Given the description of an element on the screen output the (x, y) to click on. 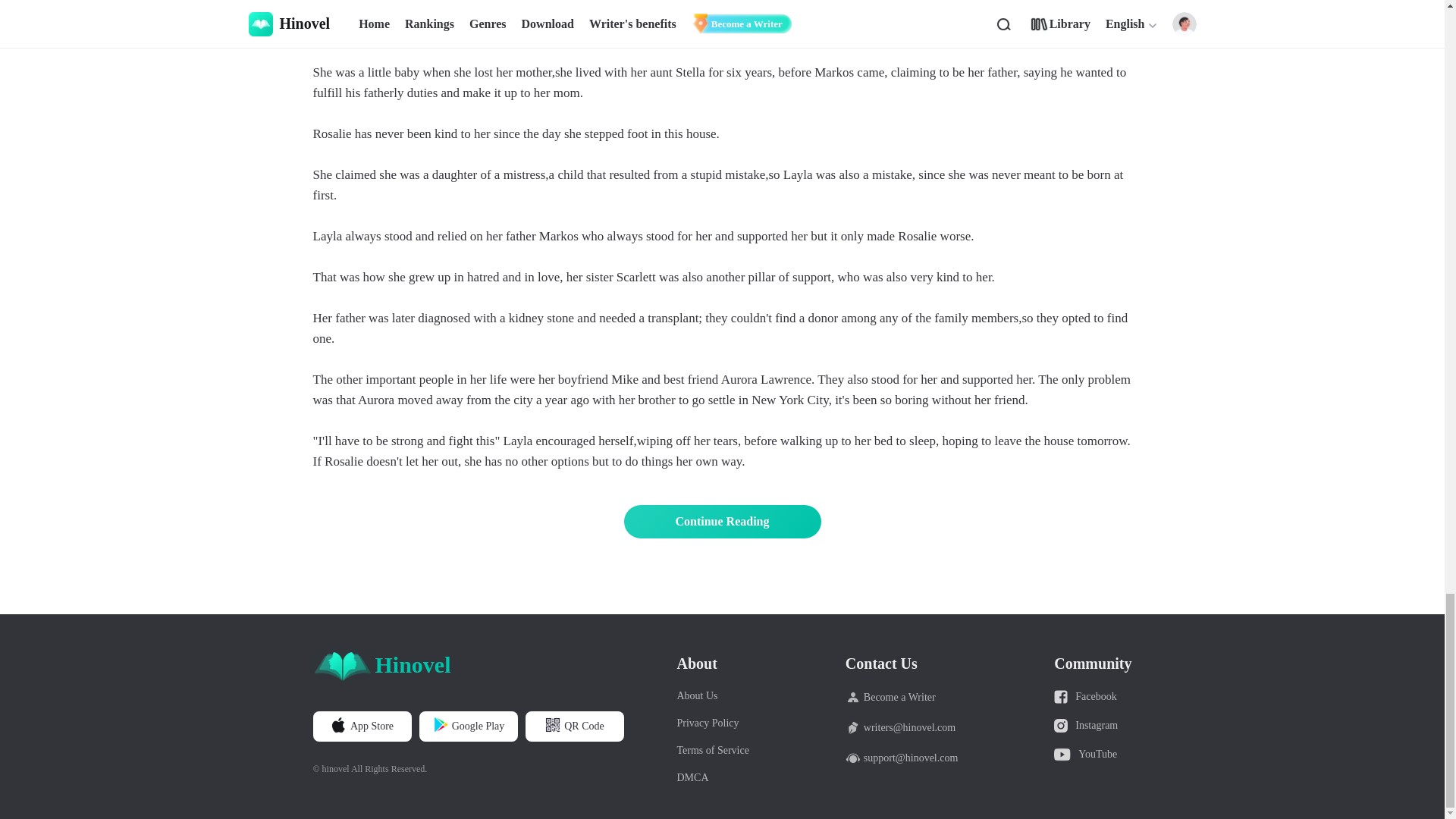
Instagram (1092, 725)
YouTube (1092, 754)
Terms of Service (712, 750)
Become a Writer (901, 697)
App Store (361, 726)
Continue Reading (722, 521)
About Us (712, 695)
Privacy Policy (712, 723)
Facebook (1092, 696)
DMCA (712, 777)
Google Play (468, 726)
